Given the description of an element on the screen output the (x, y) to click on. 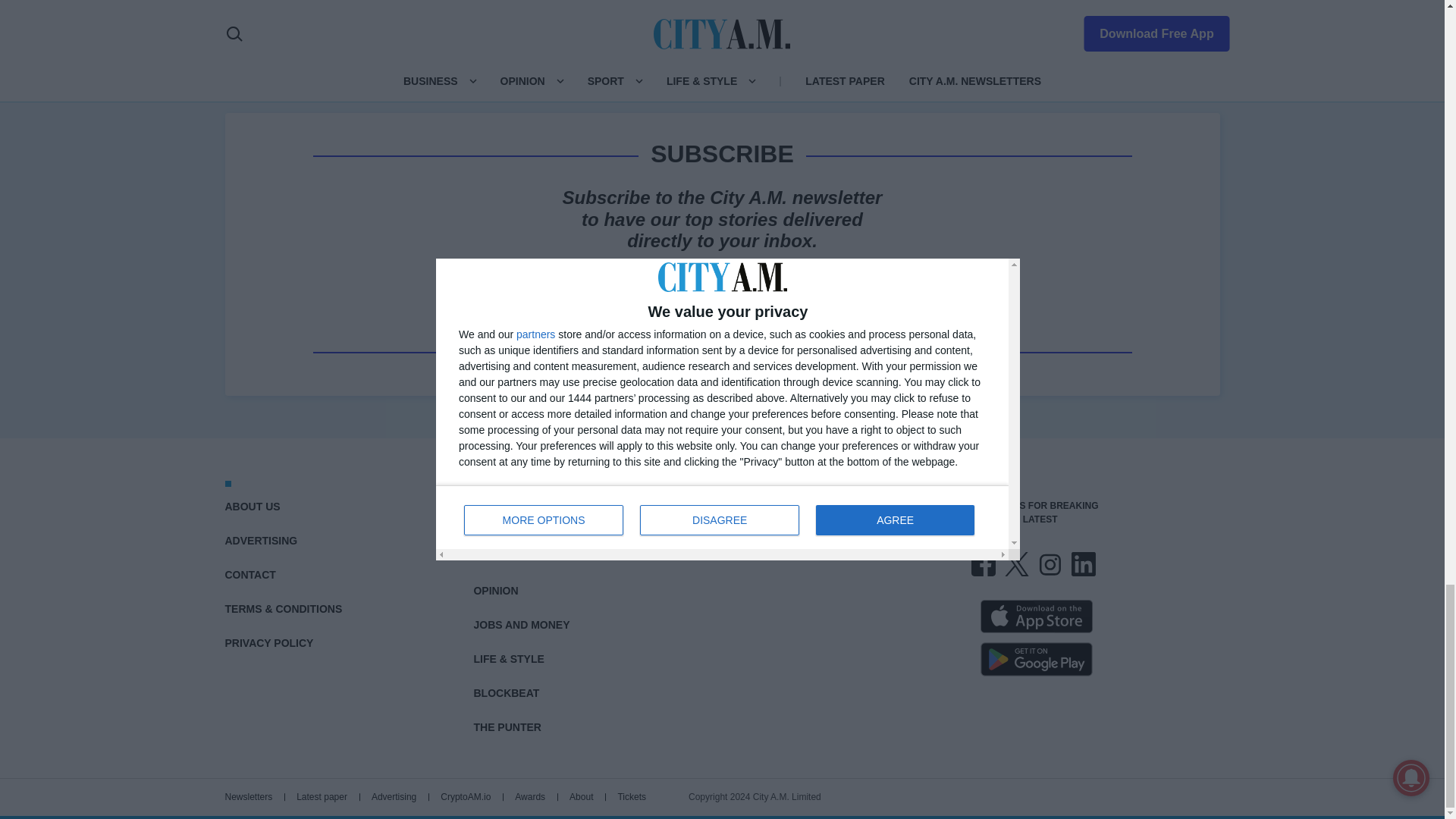
X (1015, 564)
INSTAGRAM (1048, 564)
FACEBOOK (982, 564)
LINKEDIN (1082, 564)
